Given the description of an element on the screen output the (x, y) to click on. 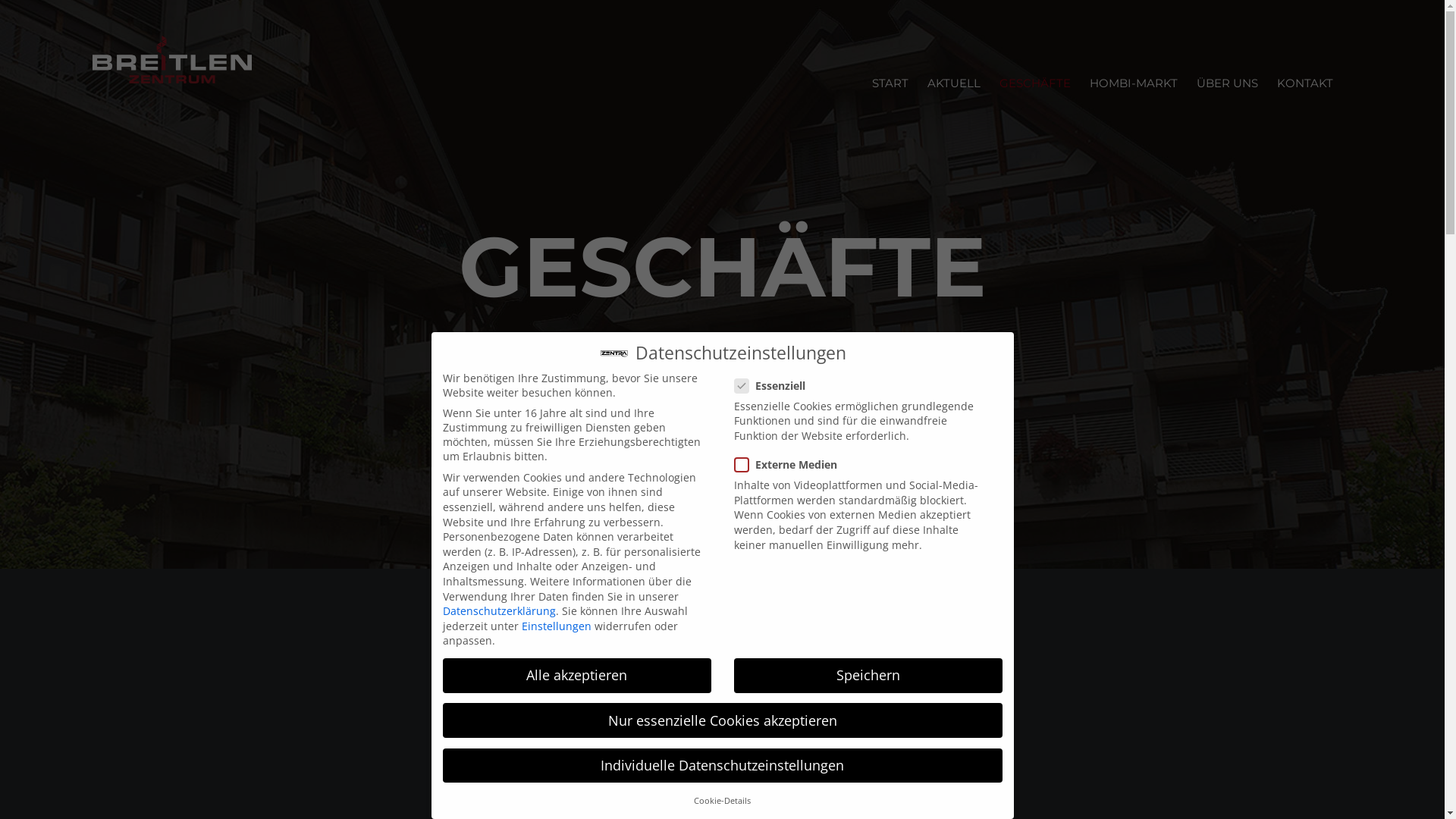
HOMBI-MARKT Element type: text (1133, 82)
Breitlen-Dreiecke Element type: hover (722, 703)
START Element type: text (890, 82)
Einstellungen Element type: text (556, 625)
Speichern Element type: text (868, 675)
Cookie-Details Element type: text (721, 800)
KONTAKT Element type: text (1305, 82)
Nur essenzielle Cookies akzeptieren Element type: text (722, 719)
Individuelle Datenschutzeinstellungen Element type: text (722, 765)
Alle akzeptieren Element type: text (576, 675)
AKTUELL Element type: text (953, 82)
